Given the description of an element on the screen output the (x, y) to click on. 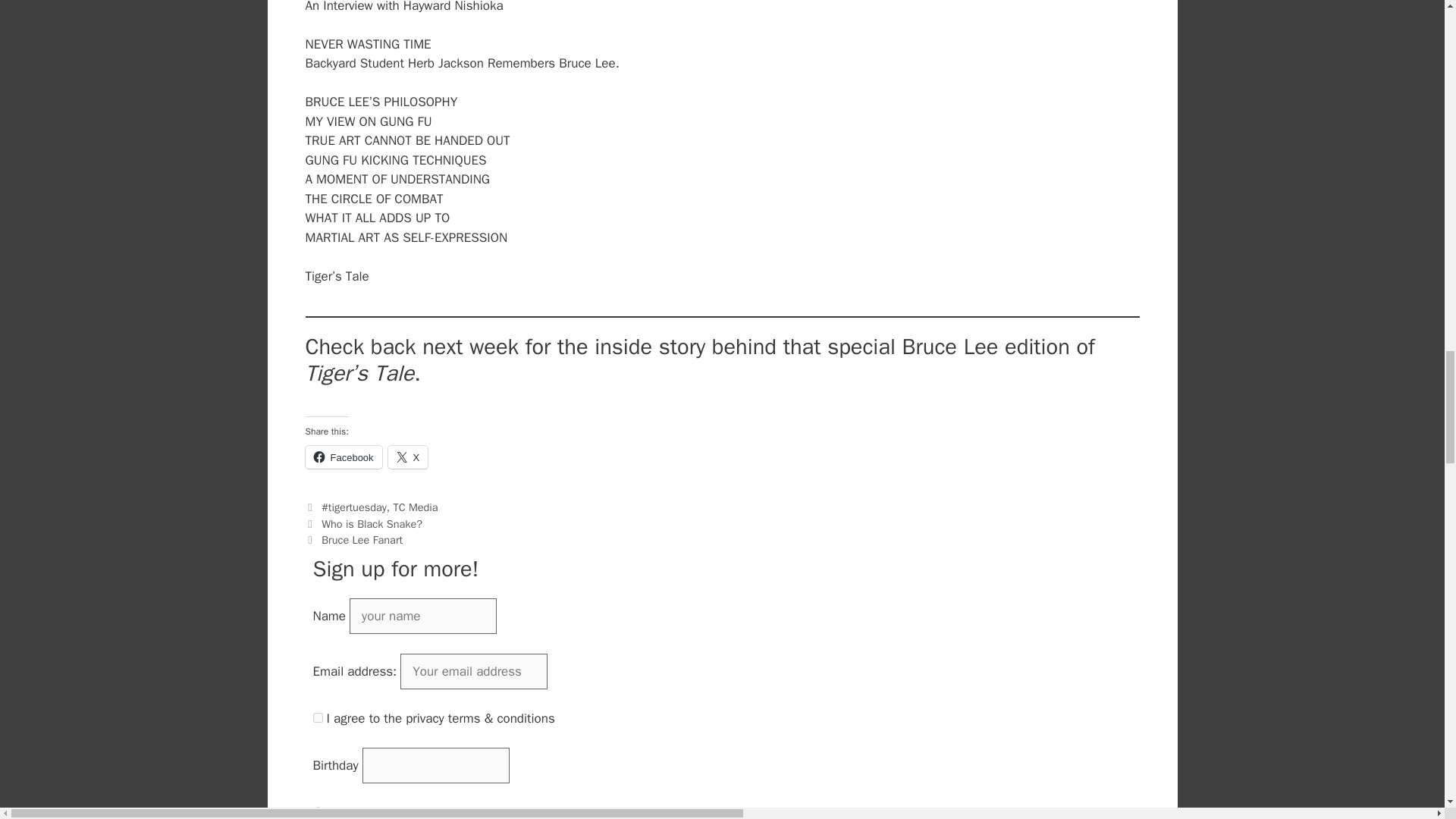
Bruce Lee Fanart (362, 540)
1 (317, 717)
Who is Black Snake? (371, 523)
Click to share on X (408, 456)
X (408, 456)
Click to share on Facebook (342, 456)
Facebook (342, 456)
Next (353, 540)
subscribe (317, 811)
Previous (363, 523)
